Given the description of an element on the screen output the (x, y) to click on. 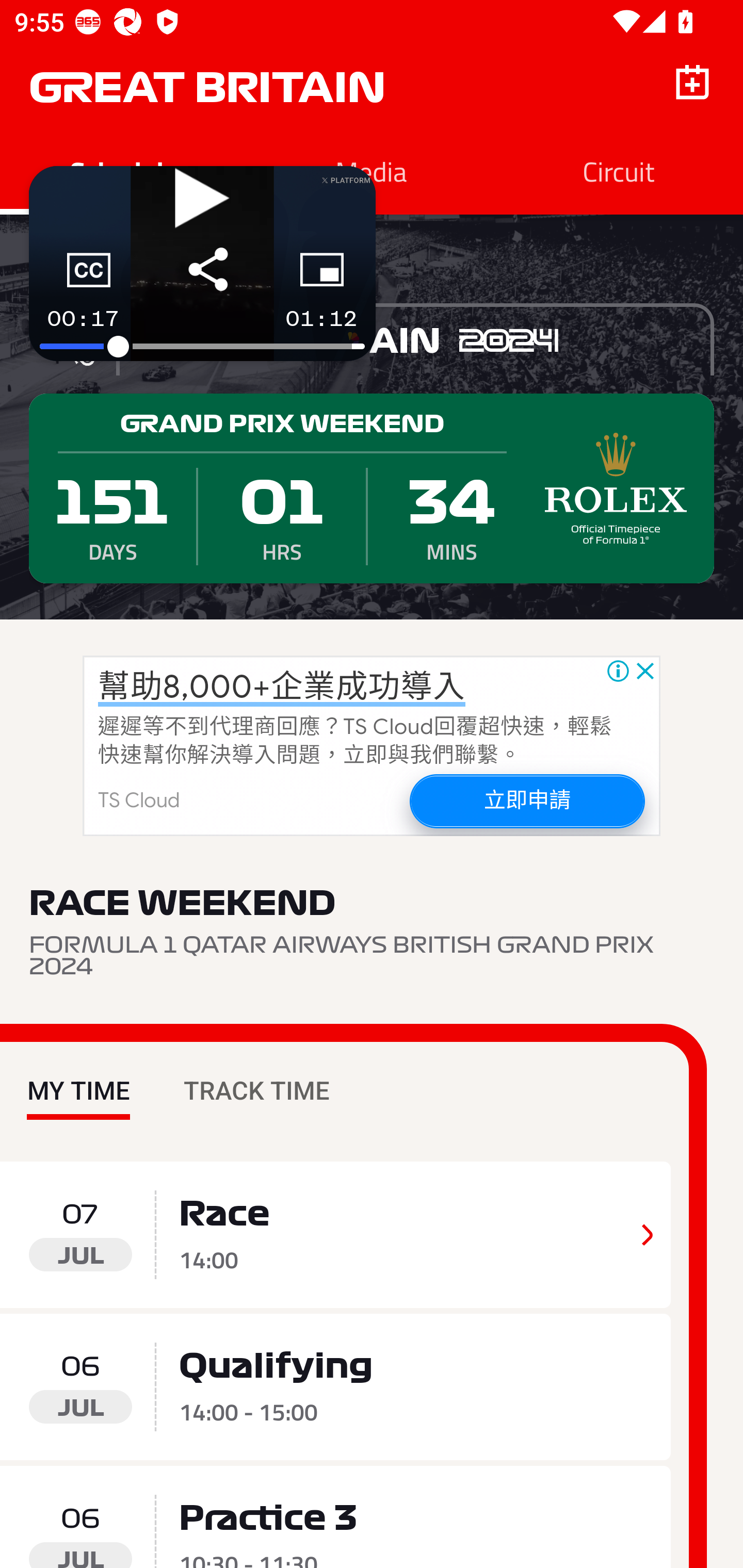
Circuit (619, 171)
幫助8,000+企業成功導入 (281, 686)
立即申請 (526, 801)
TS Cloud (139, 800)
TRACK TIME (256, 1076)
07 JUL July Race 14:00 (335, 1234)
